Given the description of an element on the screen output the (x, y) to click on. 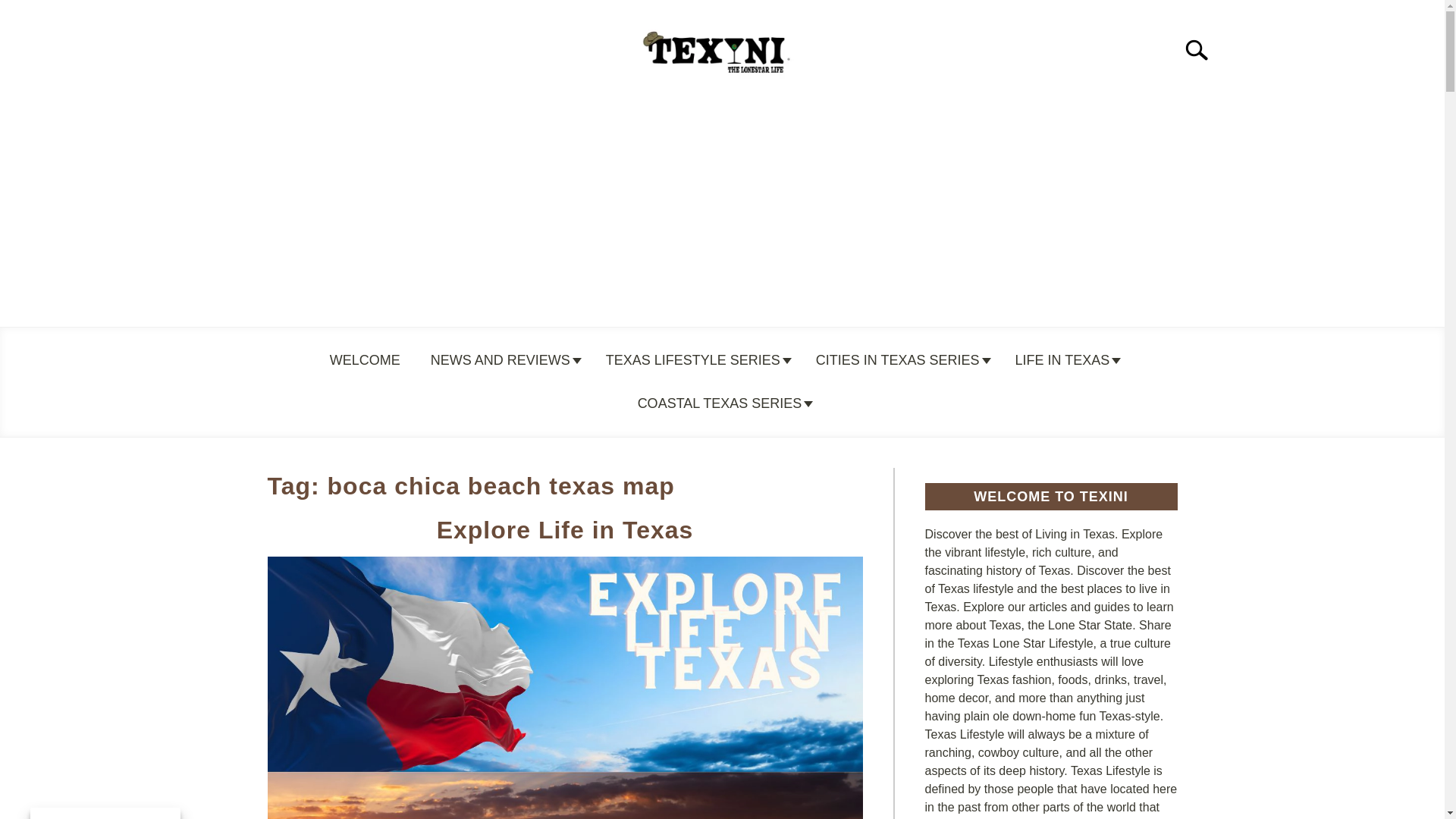
TEXAS LIFESTYLE SERIES (695, 360)
NEWS AND REVIEWS (502, 360)
CITIES IN TEXAS SERIES (900, 360)
WELCOME (364, 360)
Search (1203, 49)
